Given the description of an element on the screen output the (x, y) to click on. 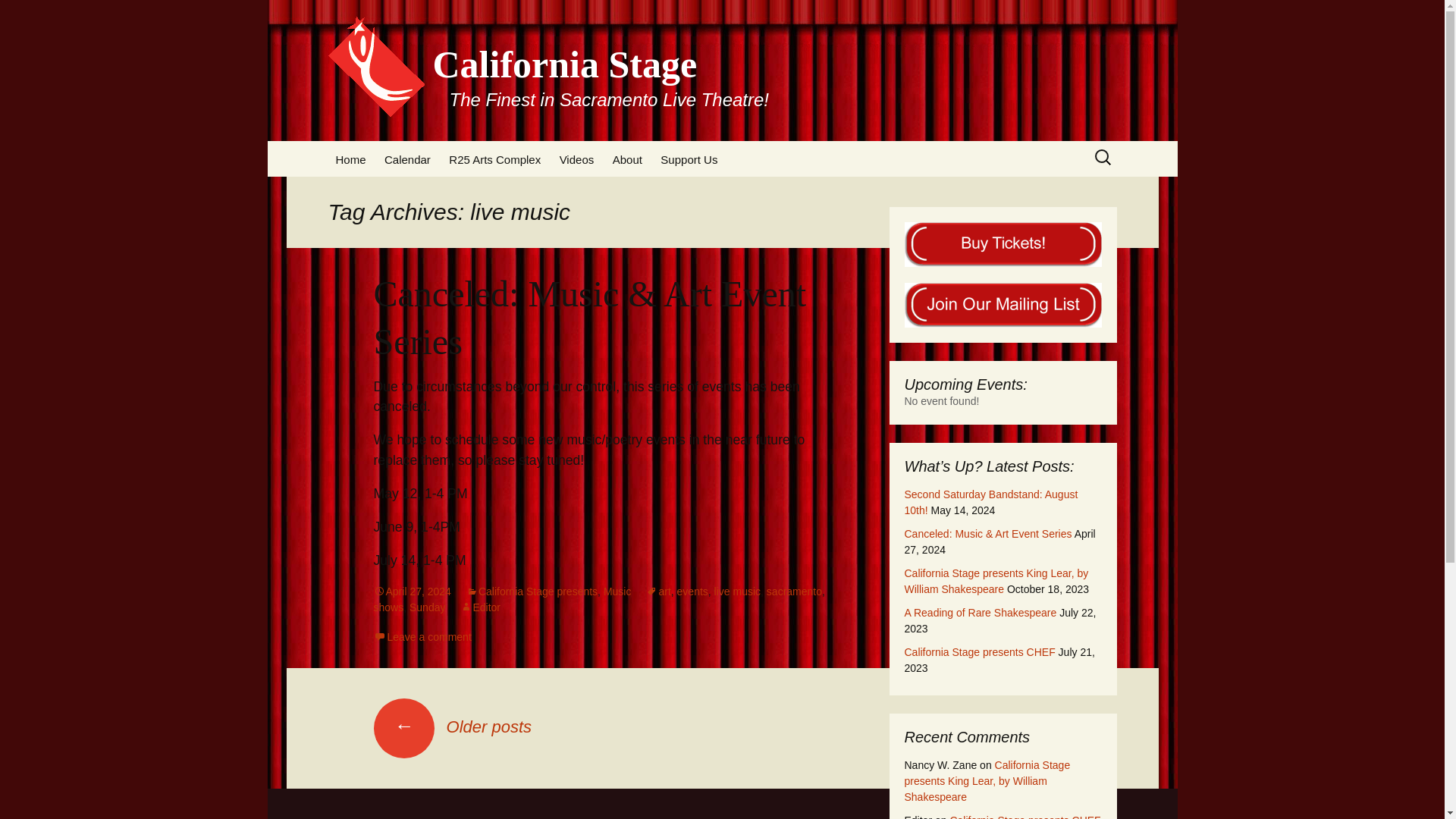
Support Us (688, 158)
Box Office (681, 194)
R25 Arts Complex (494, 158)
Sunday (427, 607)
shows (387, 607)
live music (737, 591)
Courtyard Gallery Memberships (728, 201)
Calendar (407, 158)
calstage-logo (376, 66)
